Given the description of an element on the screen output the (x, y) to click on. 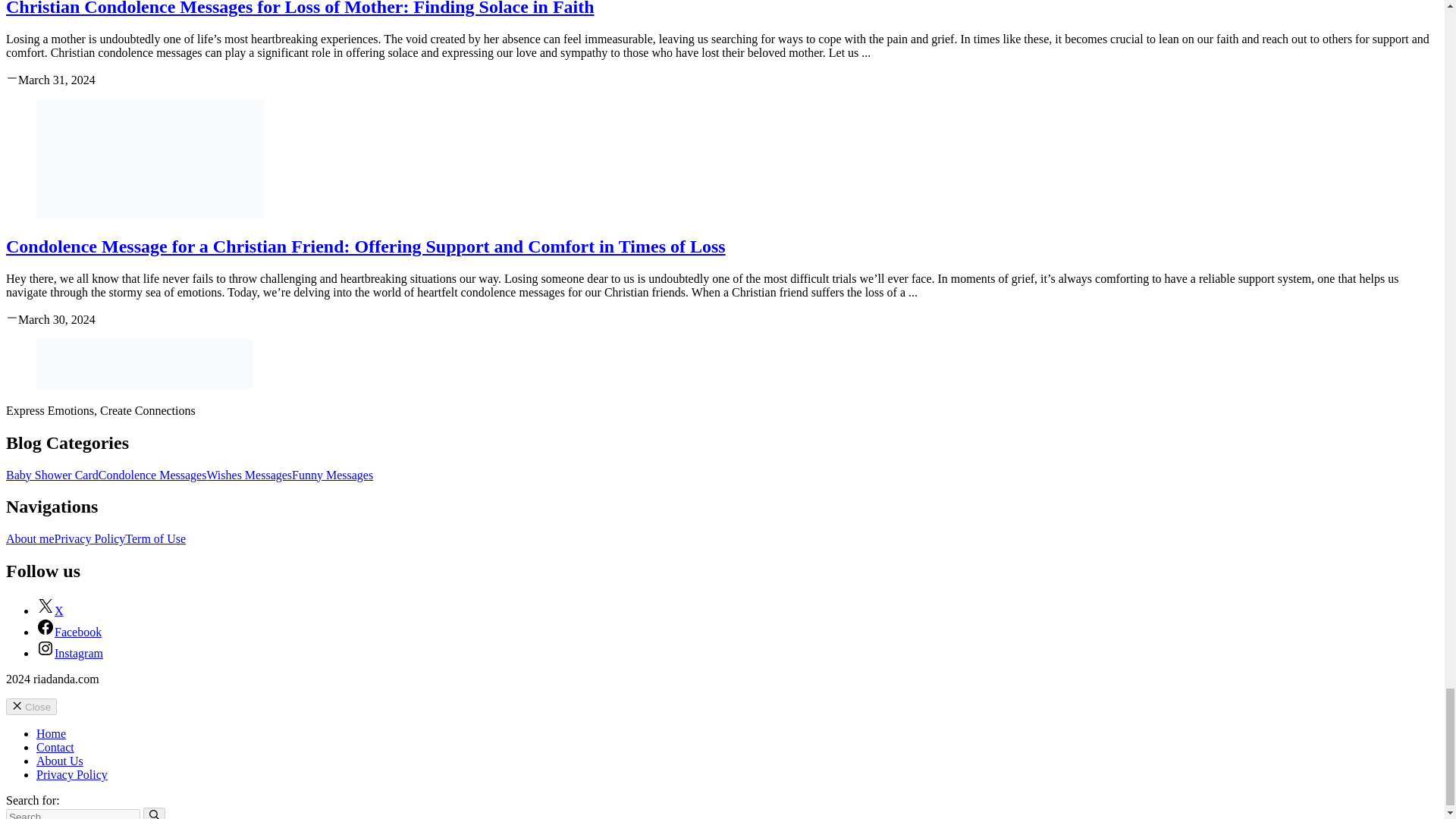
Baby Shower Card (52, 474)
Funny Messages (332, 474)
About me (30, 538)
riadanda (143, 364)
Condolence Messages (152, 474)
Wishes Messages (249, 474)
